Given the description of an element on the screen output the (x, y) to click on. 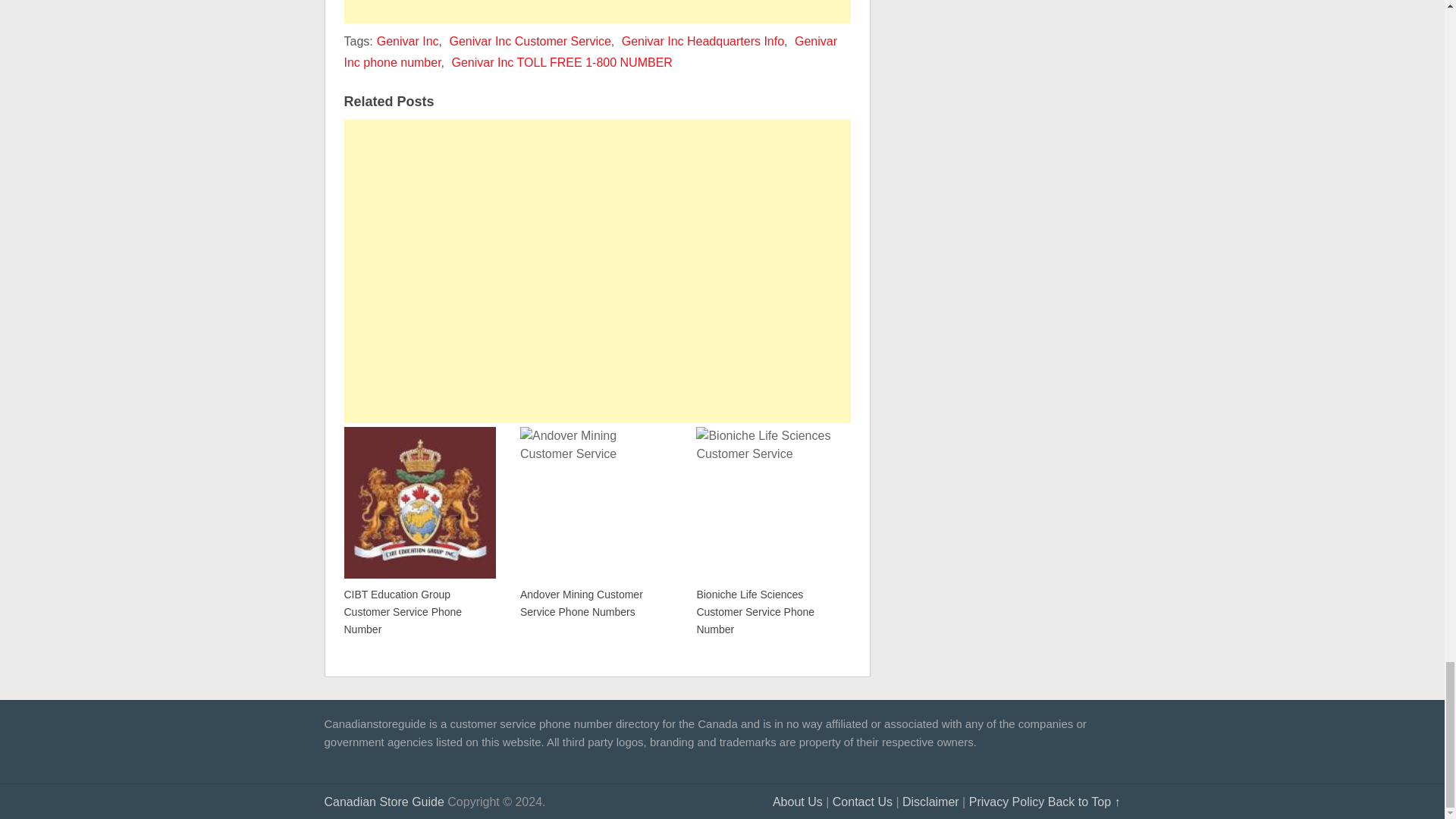
Genivar Inc Headquarters Info (702, 41)
Genivar Inc (408, 41)
Genivar Inc TOLL FREE 1-800 NUMBER (561, 62)
Genivar Inc phone number (590, 51)
Genivar Inc Customer Service (529, 41)
